Given the description of an element on the screen output the (x, y) to click on. 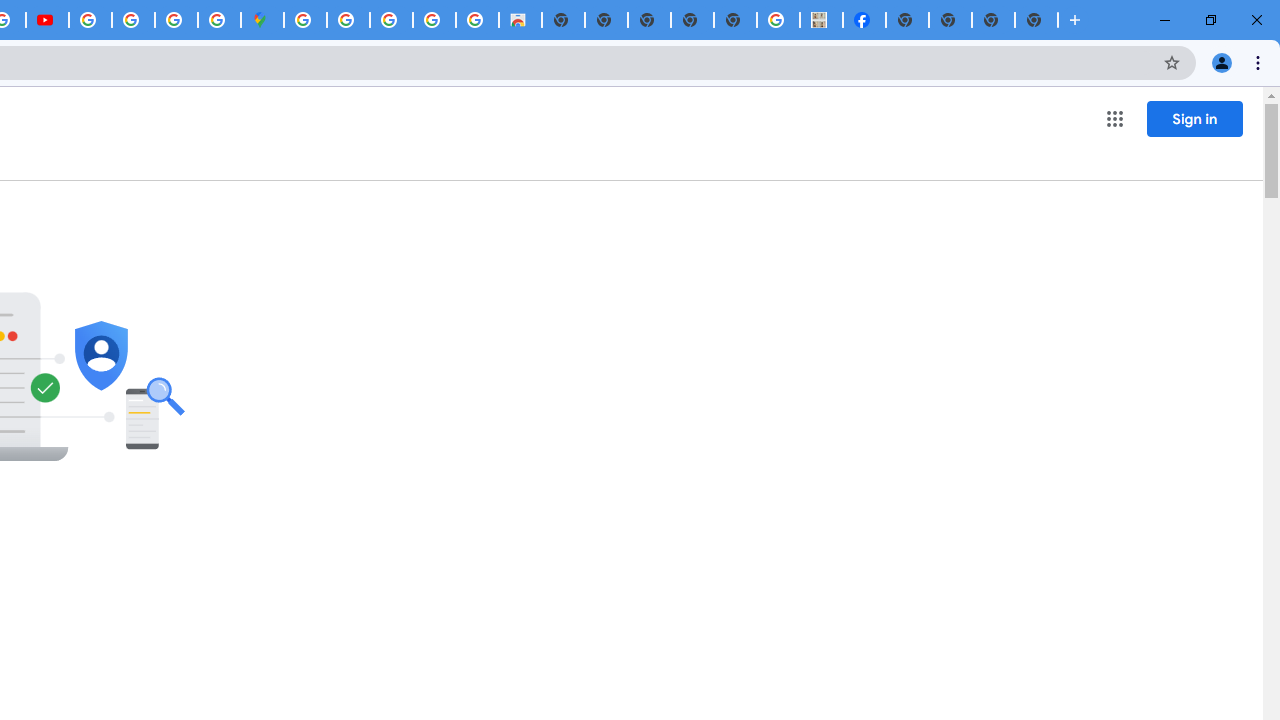
Google Maps (262, 20)
New Tab (1036, 20)
